Given the description of an element on the screen output the (x, y) to click on. 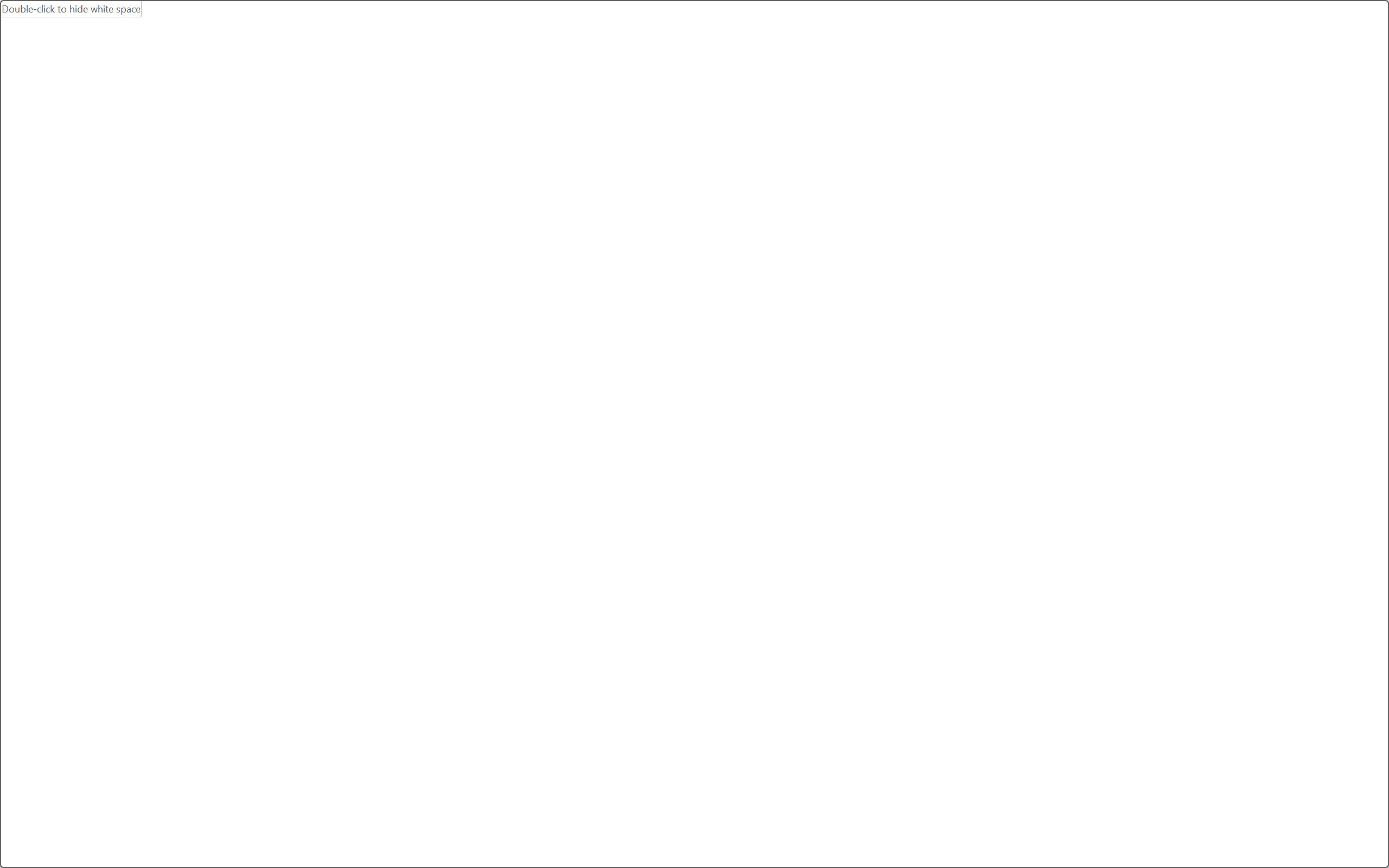
magnetosphere (665, 561)
Shading (539, 108)
Undo Paste Destination Formatting (152, 19)
Phonetic Guide... (334, 82)
astronomical object (690, 424)
Shrink Font (253, 82)
atmospheric water (537, 529)
Earth has a liquid outer core (690, 554)
